Given the description of an element on the screen output the (x, y) to click on. 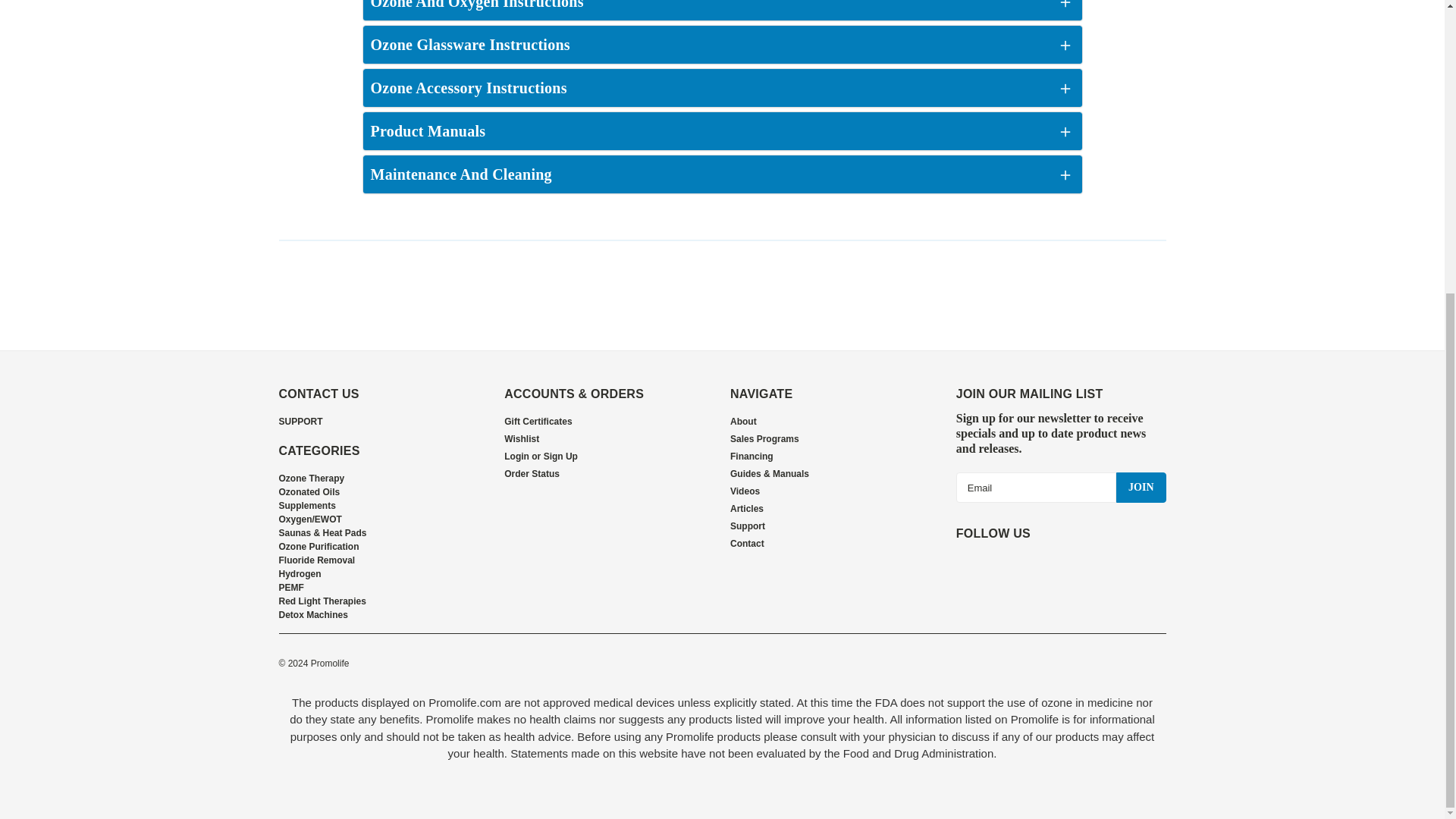
Join (1141, 487)
